Given the description of an element on the screen output the (x, y) to click on. 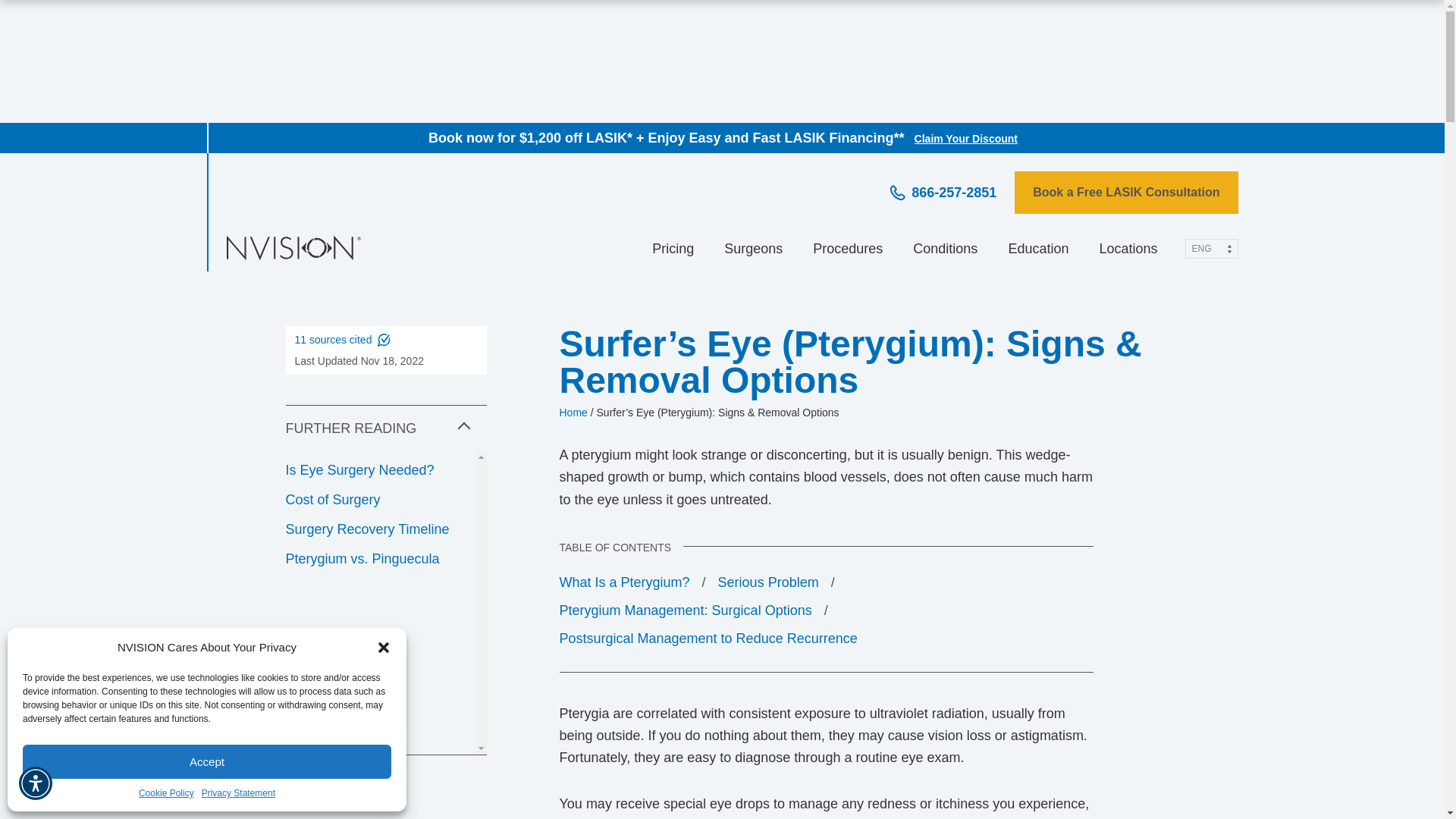
Privacy Statement (238, 793)
Cookie Policy (165, 793)
Accept (207, 761)
Accessibility Menu (35, 783)
